Given the description of an element on the screen output the (x, y) to click on. 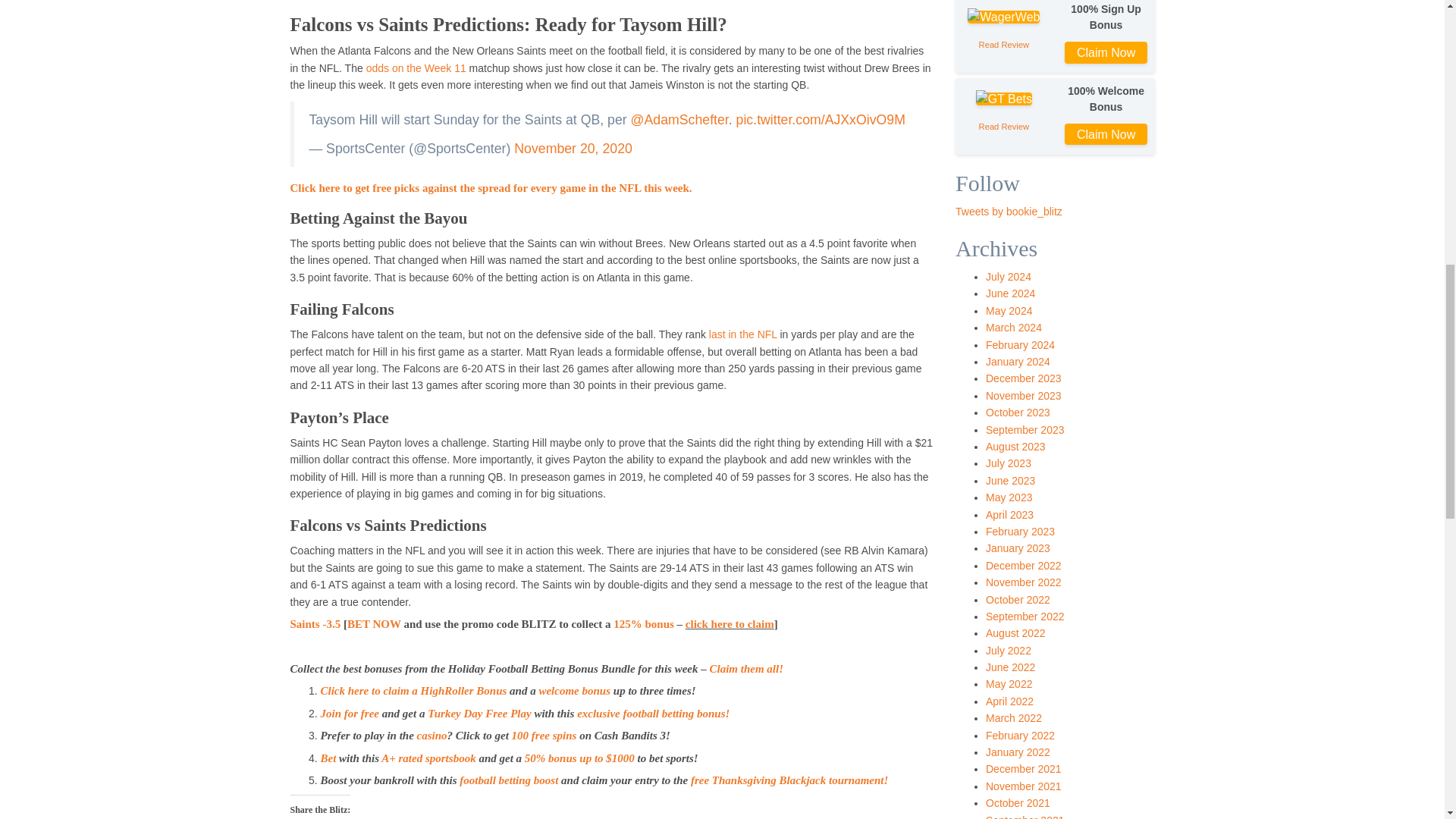
BET NOW (374, 623)
100 free spins  (545, 735)
welcome bonus (574, 690)
Turkey Day Free Play (479, 713)
click here to claim (729, 623)
last in the NFL (743, 334)
exclusive football betting bonus! (652, 713)
Claim them all! (746, 668)
November 20, 2020 (572, 148)
Saints -3.5 (314, 623)
Bet (329, 758)
odds on the Week 11 (415, 68)
casino (431, 735)
Click here to claim a HighRoller Bonus (413, 690)
